Given the description of an element on the screen output the (x, y) to click on. 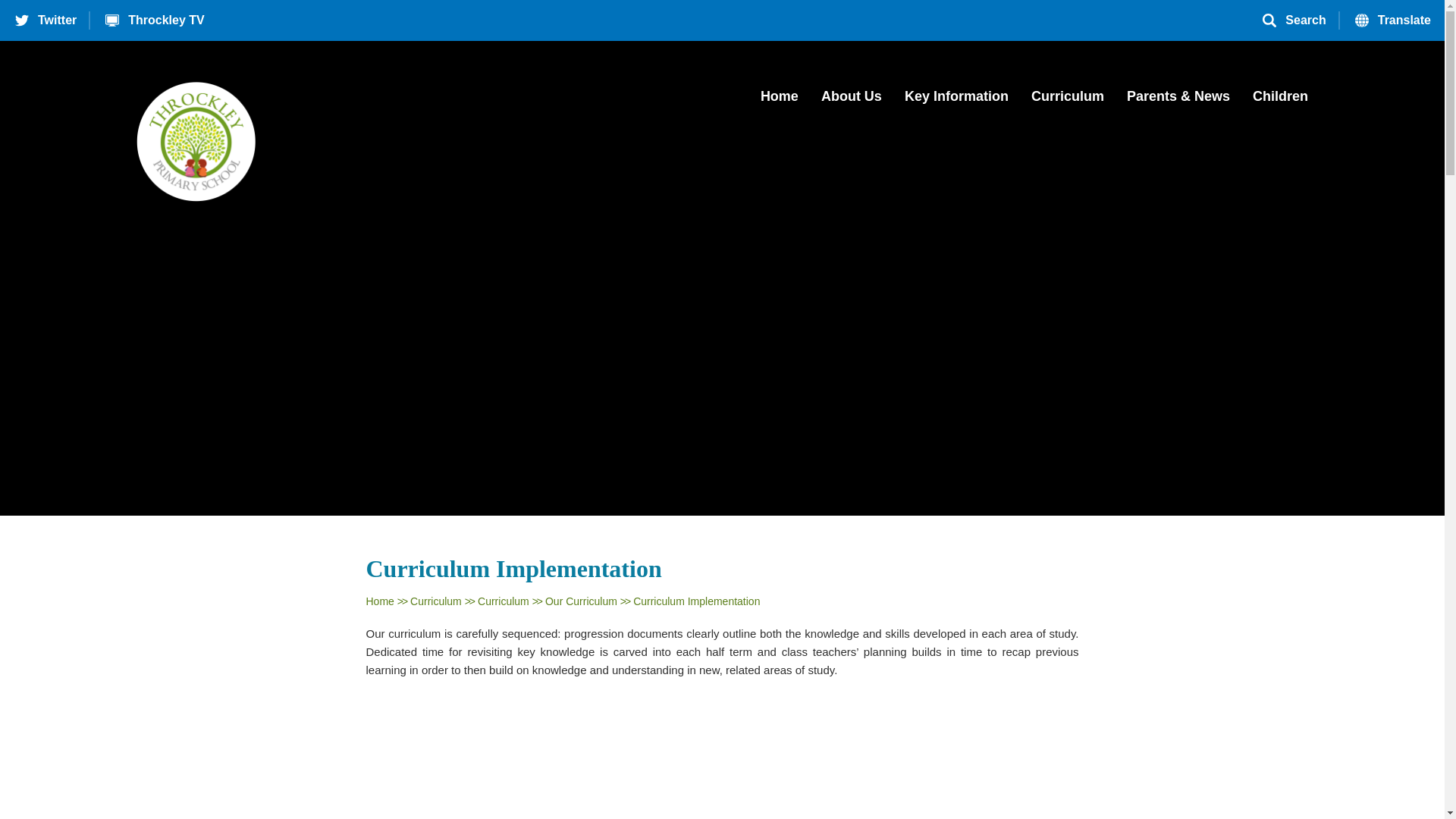
Twitter (45, 20)
About Us (851, 98)
Throckley TV (153, 20)
Home Page (196, 141)
Key Information (956, 98)
Home (778, 98)
Search (1293, 20)
